Given the description of an element on the screen output the (x, y) to click on. 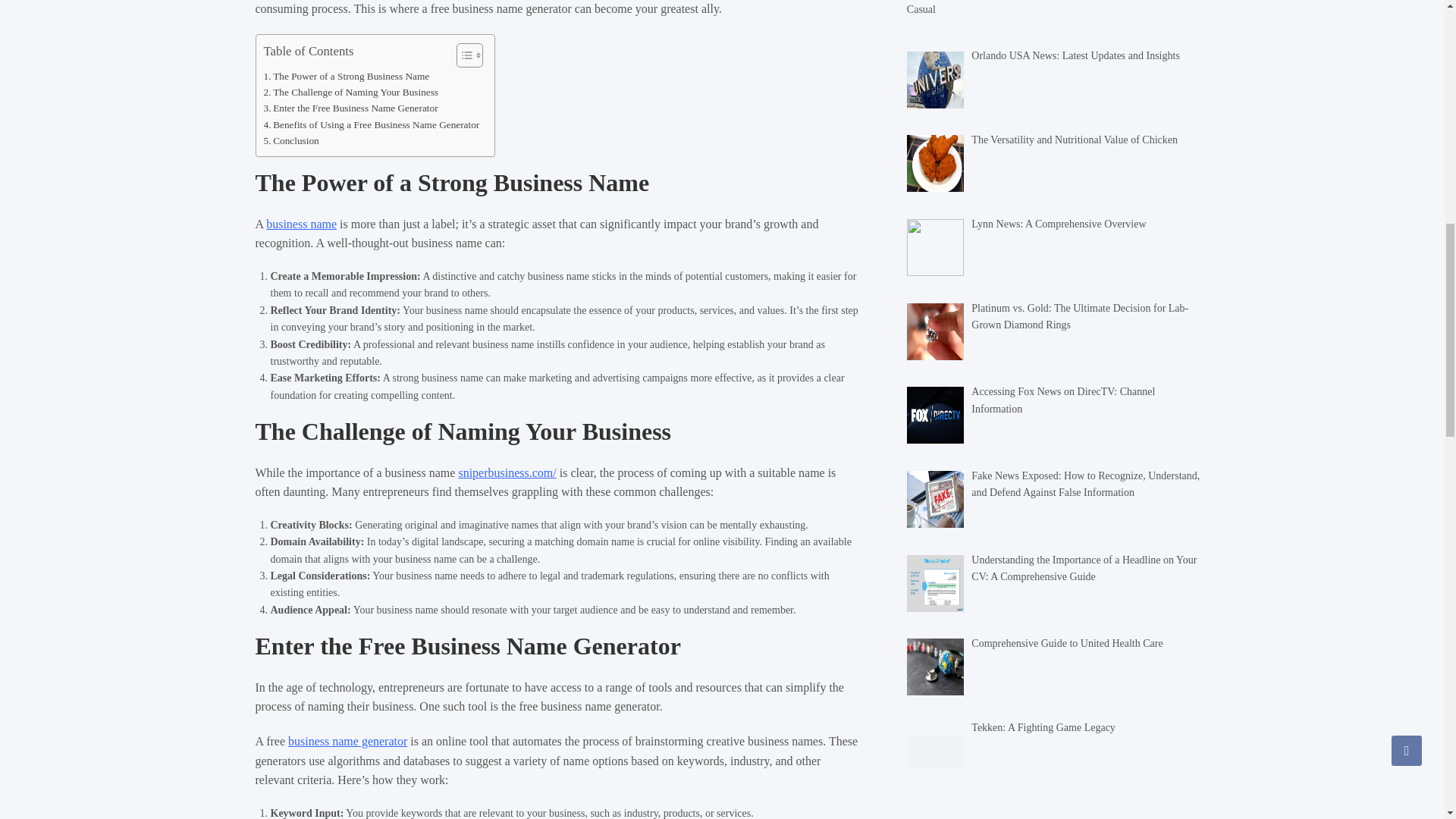
Enter the Free Business Name Generator (350, 107)
Conclusion (290, 140)
The Power of a Strong Business Name (346, 75)
The Power of a Strong Business Name (346, 75)
Benefits of Using a Free Business Name Generator (371, 124)
The Challenge of Naming Your Business (351, 91)
Benefits of Using a Free Business Name Generator (371, 124)
The Challenge of Naming Your Business (351, 91)
Enter the Free Business Name Generator (350, 107)
